Given the description of an element on the screen output the (x, y) to click on. 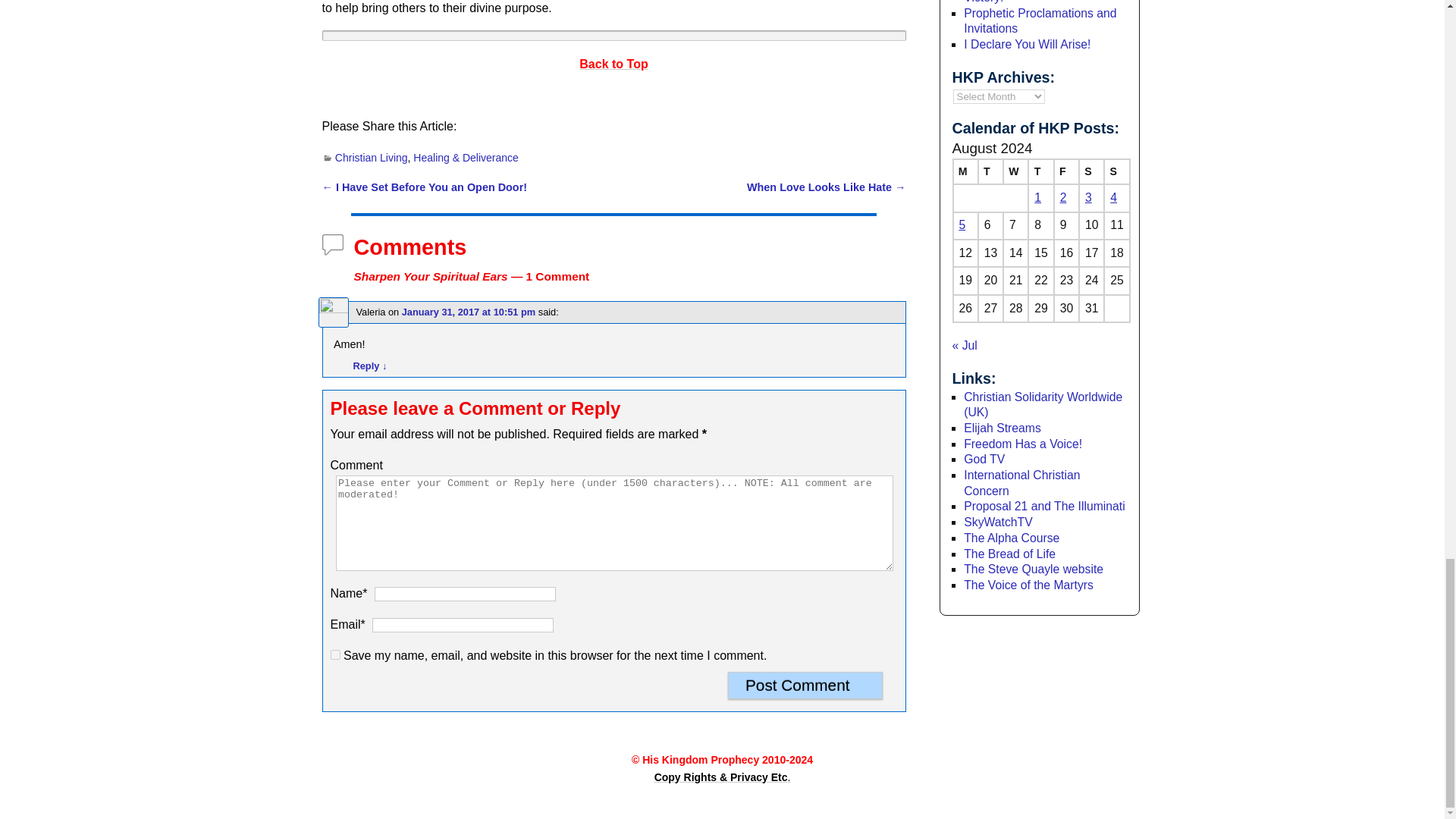
Tuesday (990, 171)
Wednesday (1015, 171)
Thursday (1039, 171)
Post Comment (805, 685)
Monday (964, 171)
yes (335, 655)
Friday (1066, 171)
